Given the description of an element on the screen output the (x, y) to click on. 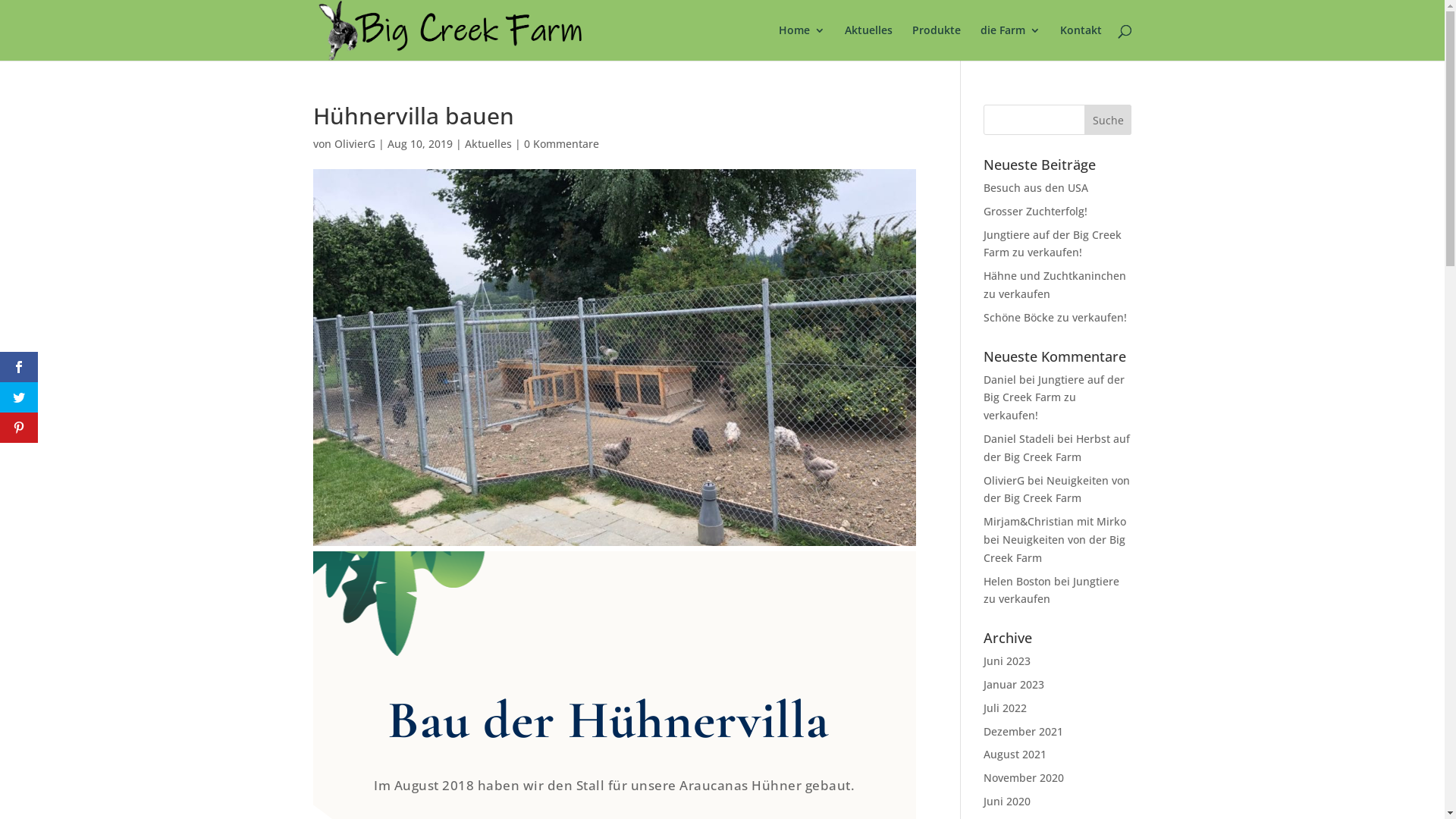
Daniel Element type: text (999, 379)
Aktuelles Element type: text (868, 42)
Herbst auf der Big Creek Farm Element type: text (1056, 447)
Januar 2023 Element type: text (1013, 684)
Dezember 2021 Element type: text (1023, 731)
Neuigkeiten von der Big Creek Farm Element type: text (1056, 489)
Besuch aus den USA Element type: text (1035, 187)
Home Element type: text (801, 42)
Neuigkeiten von der Big Creek Farm Element type: text (1054, 548)
die Farm Element type: text (1009, 42)
Juli 2022 Element type: text (1004, 707)
Produkte Element type: text (935, 42)
Juni 2020 Element type: text (1006, 800)
Daniel Stadeli Element type: text (1018, 438)
Suche Element type: text (1108, 119)
Grosser Zuchterfolg! Element type: text (1035, 210)
Juni 2023 Element type: text (1006, 660)
OlivierG Element type: text (353, 143)
Jungtiere auf der Big Creek Farm zu verkaufen! Element type: text (1052, 243)
Aktuelles Element type: text (487, 143)
0 Kommentare Element type: text (560, 143)
November 2020 Element type: text (1023, 777)
August 2021 Element type: text (1014, 753)
Jungtiere zu verkaufen Element type: text (1051, 590)
Kontakt Element type: text (1080, 42)
Jungtiere auf der Big Creek Farm zu verkaufen! Element type: text (1053, 397)
